Given the description of an element on the screen output the (x, y) to click on. 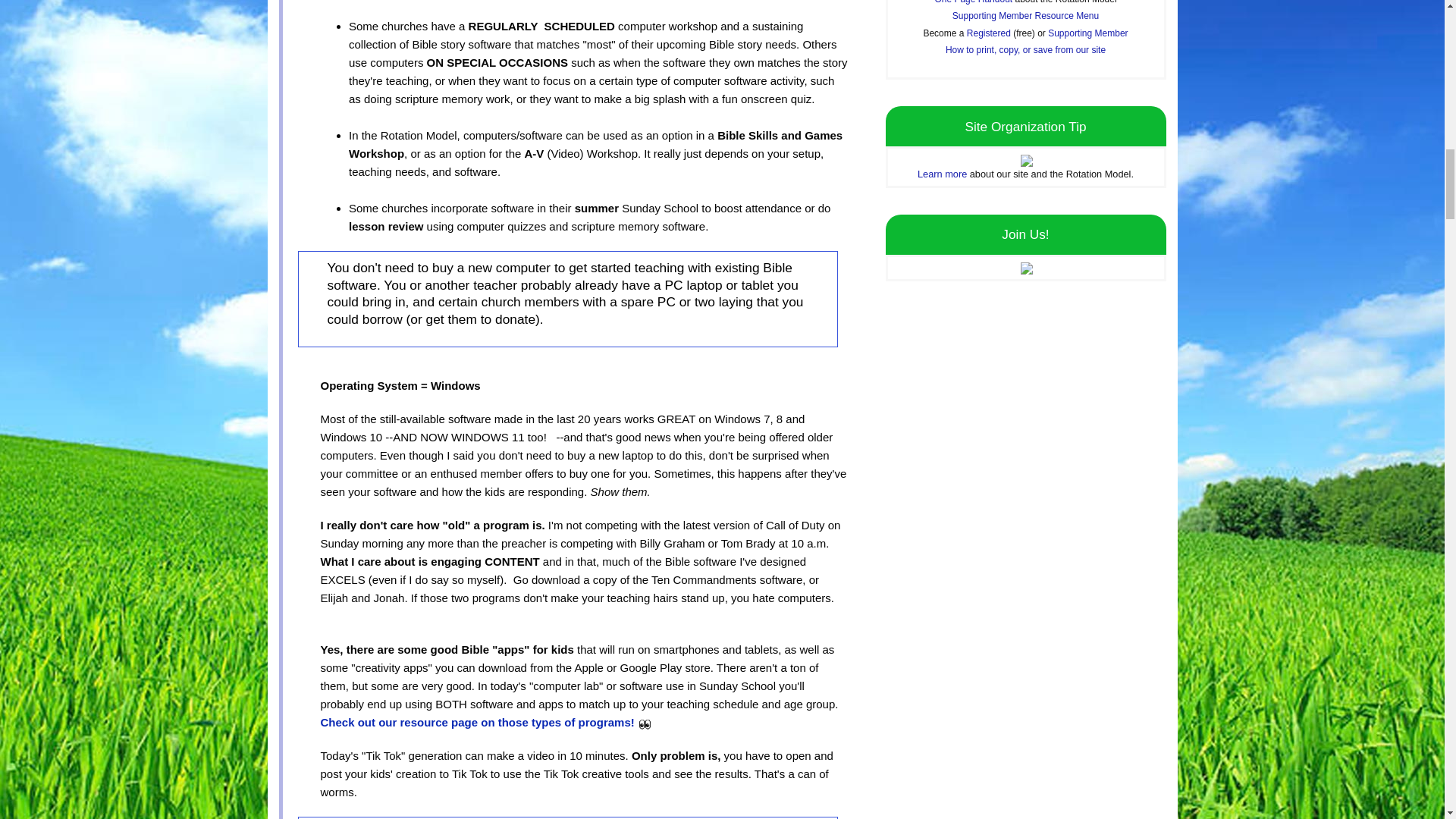
eyz (644, 723)
